Given the description of an element on the screen output the (x, y) to click on. 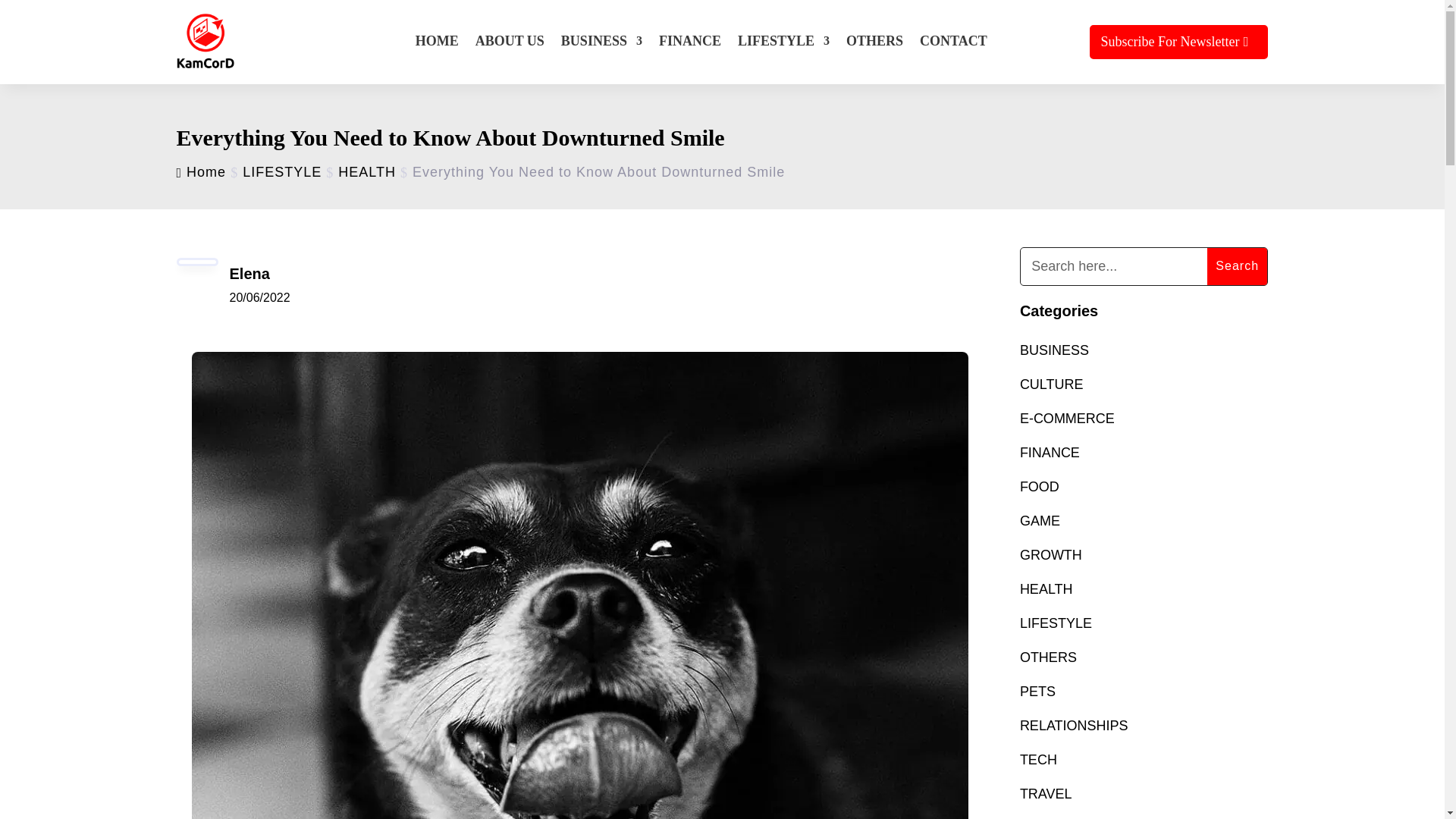
CONTACT (953, 41)
LIFESTYLE (783, 41)
OTHERS (873, 41)
FINANCE (689, 41)
Search (1237, 266)
BUSINESS (601, 41)
Subscribe For Newsletter (1178, 41)
Search (1237, 266)
ABOUT US (510, 41)
